Given the description of an element on the screen output the (x, y) to click on. 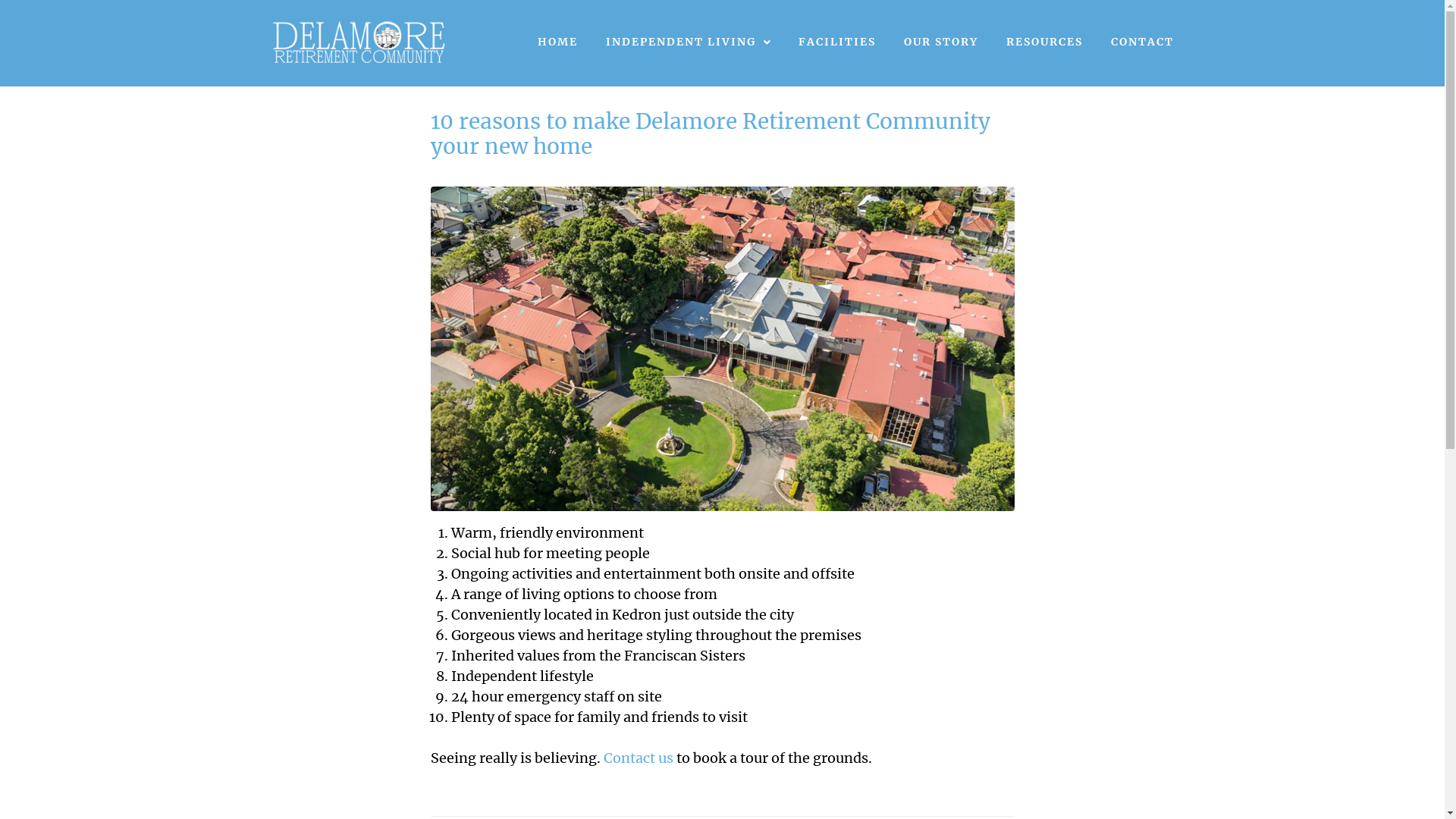
HOME Element type: text (557, 42)
RESOURCES Element type: text (1044, 42)
CONTACT Element type: text (1142, 42)
FACILITIES Element type: text (836, 42)
INDEPENDENT LIVING Element type: text (688, 42)
Contact us Element type: text (638, 757)
OUR STORY Element type: text (940, 42)
